Given the description of an element on the screen output the (x, y) to click on. 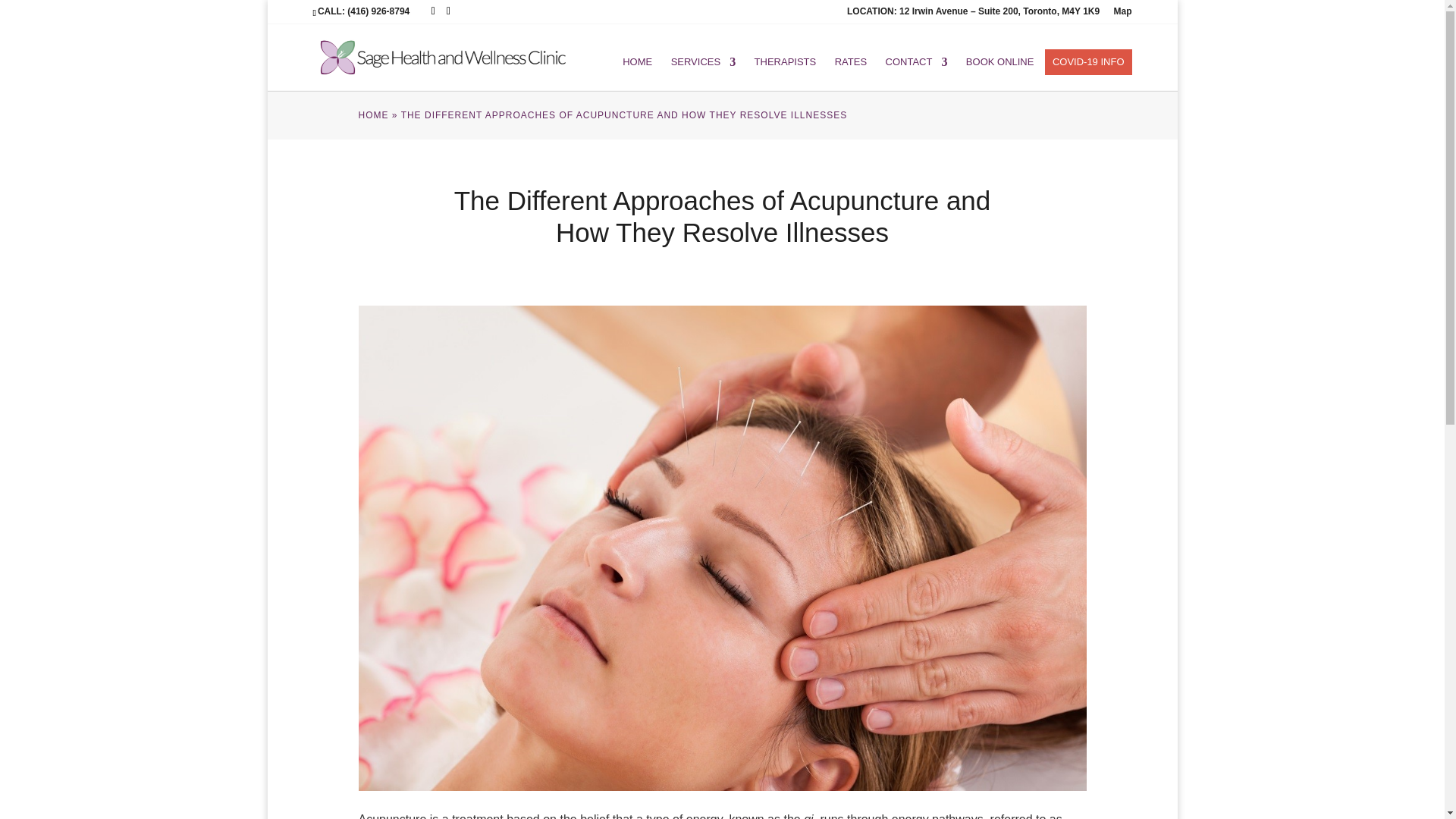
BOOK ONLINE (999, 61)
Map (1122, 14)
THERAPISTS (785, 61)
HOME (637, 61)
HOME (373, 114)
SERVICES (703, 61)
CONTACT (916, 61)
RATES (850, 61)
COVID-19 INFO (1088, 61)
